Given the description of an element on the screen output the (x, y) to click on. 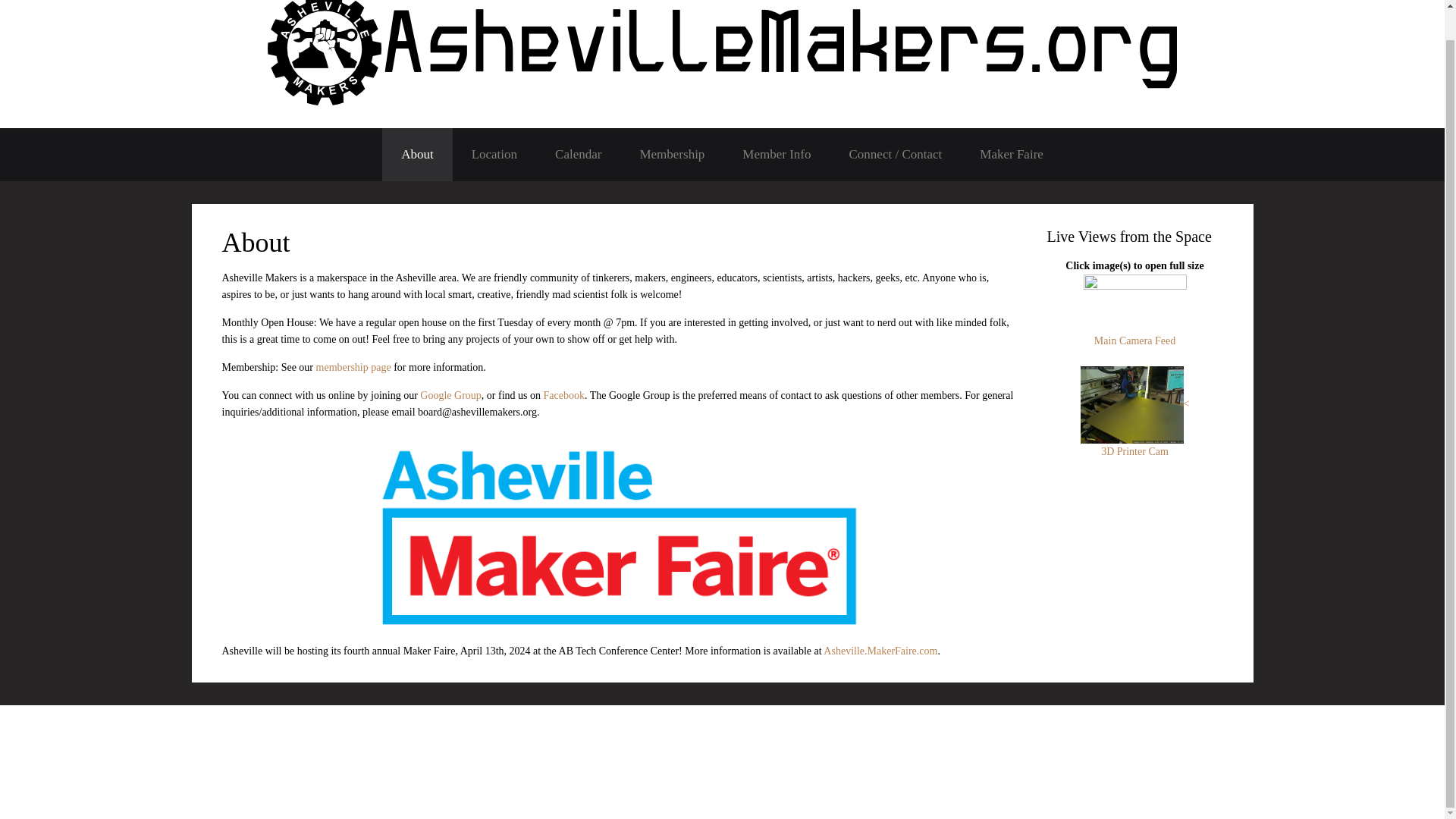
Maker Faire (1011, 153)
membership page (353, 367)
Facebook (564, 395)
Main Camera Feed (1134, 321)
Location (493, 153)
Asheville.MakerFaire.com (880, 650)
Google Group (450, 395)
Membership (671, 153)
Member Info (776, 153)
Calendar (577, 153)
